Given the description of an element on the screen output the (x, y) to click on. 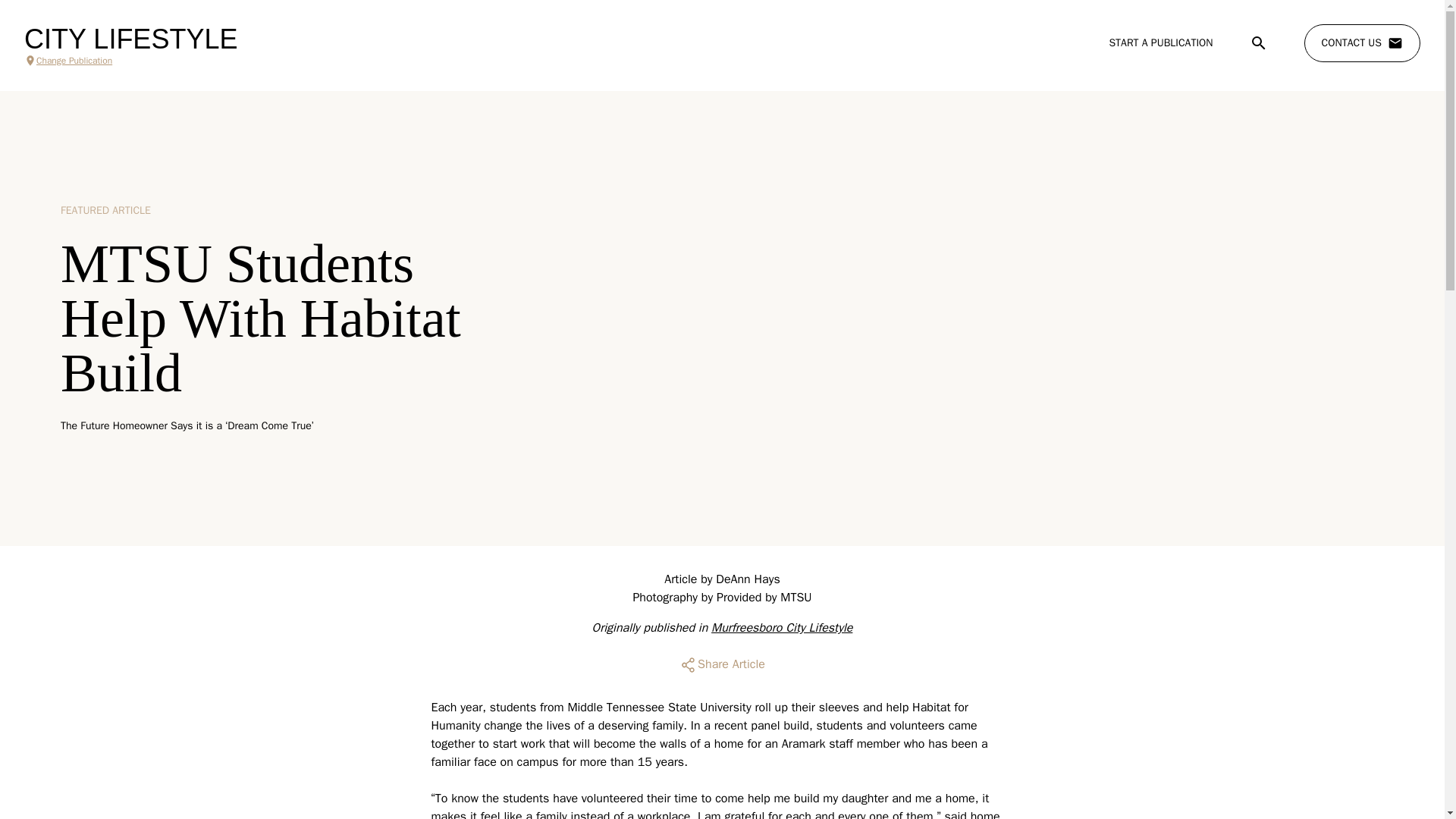
Murfreesboro City Lifestyle (781, 627)
Share Article (722, 664)
CITY LIFESTYLE (130, 39)
START A PUBLICATION (1160, 42)
Change Publication (130, 60)
CONTACT US (1362, 43)
